Given the description of an element on the screen output the (x, y) to click on. 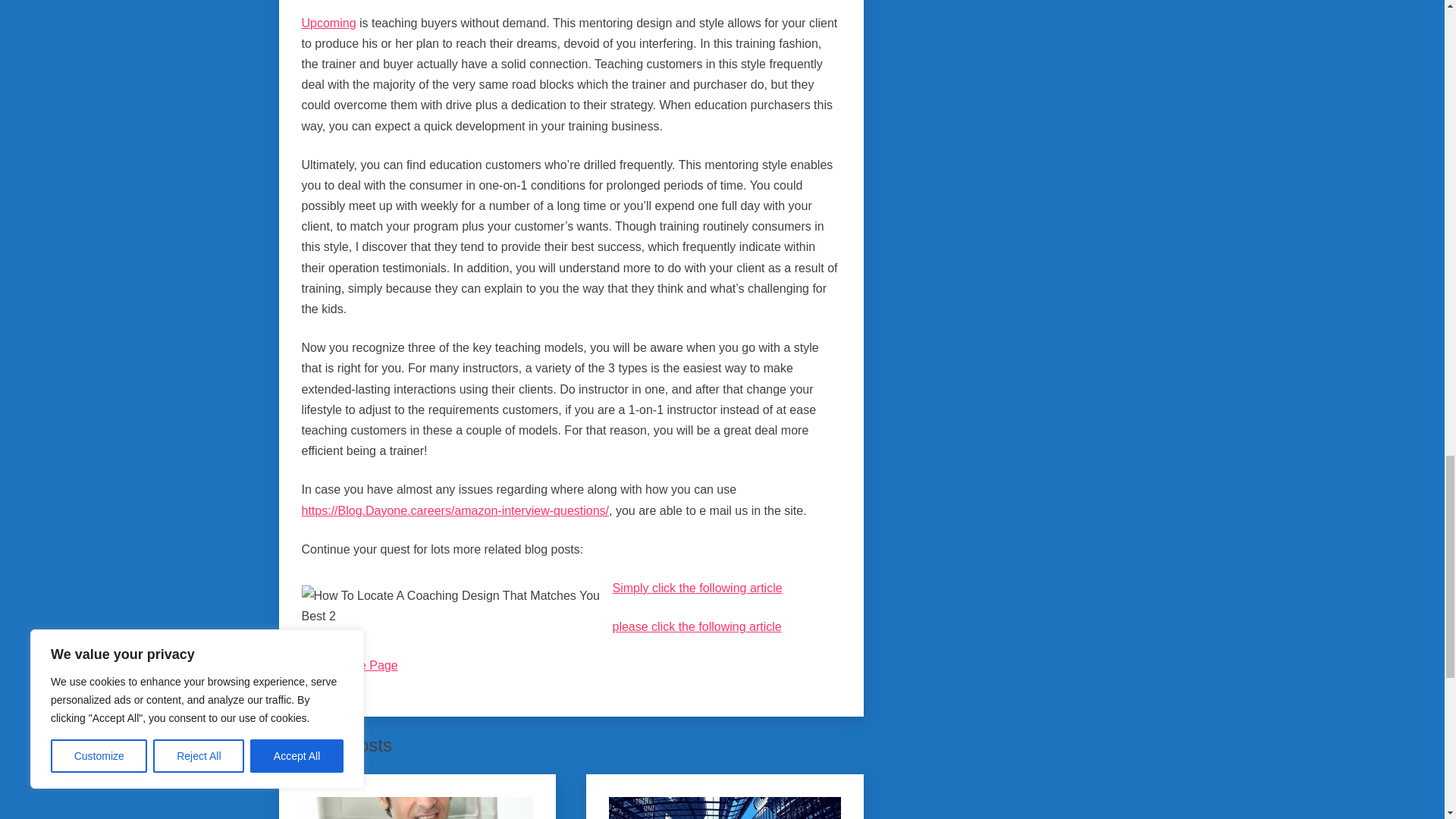
Simply click the following article (697, 587)
please click the following article (696, 626)
Upcoming (328, 22)
Read Home Page (349, 665)
